Given the description of an element on the screen output the (x, y) to click on. 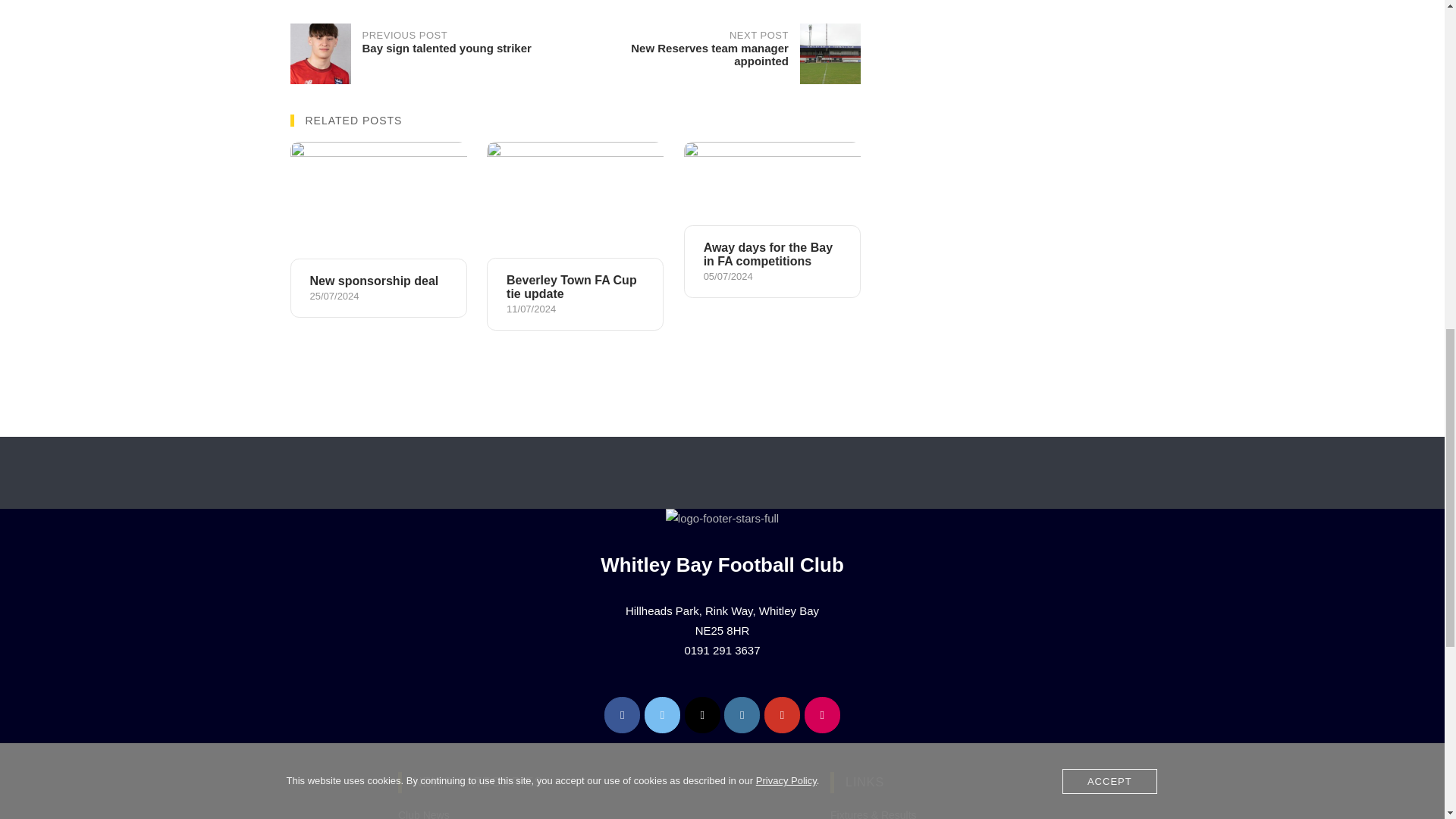
Beverley Town FA Cup tie update (574, 235)
Whitley Bay FC on X Twitter (702, 714)
Whitley Bay FC on X Twitter (662, 714)
Away days for the Bay in FA competitions (717, 53)
Whitley Bay FC on Youtube (772, 219)
Whitley Bay FC on Flickr (781, 714)
Whitley Bay FC on Instagram (822, 714)
Whitley Bay FC on Facebook (741, 714)
New sponsorship deal (432, 53)
